Given the description of an element on the screen output the (x, y) to click on. 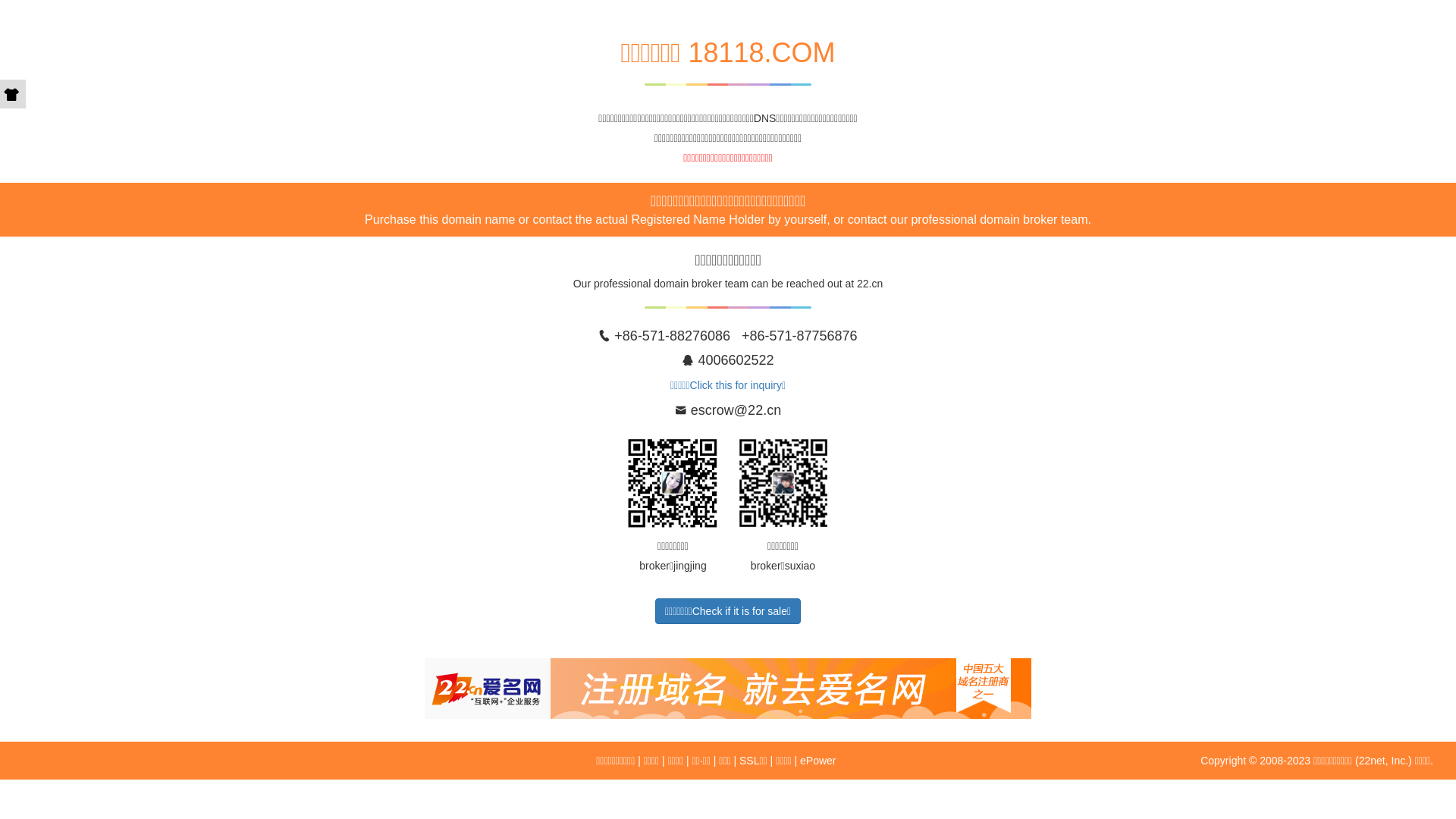
ePower Element type: text (817, 760)
